Given the description of an element on the screen output the (x, y) to click on. 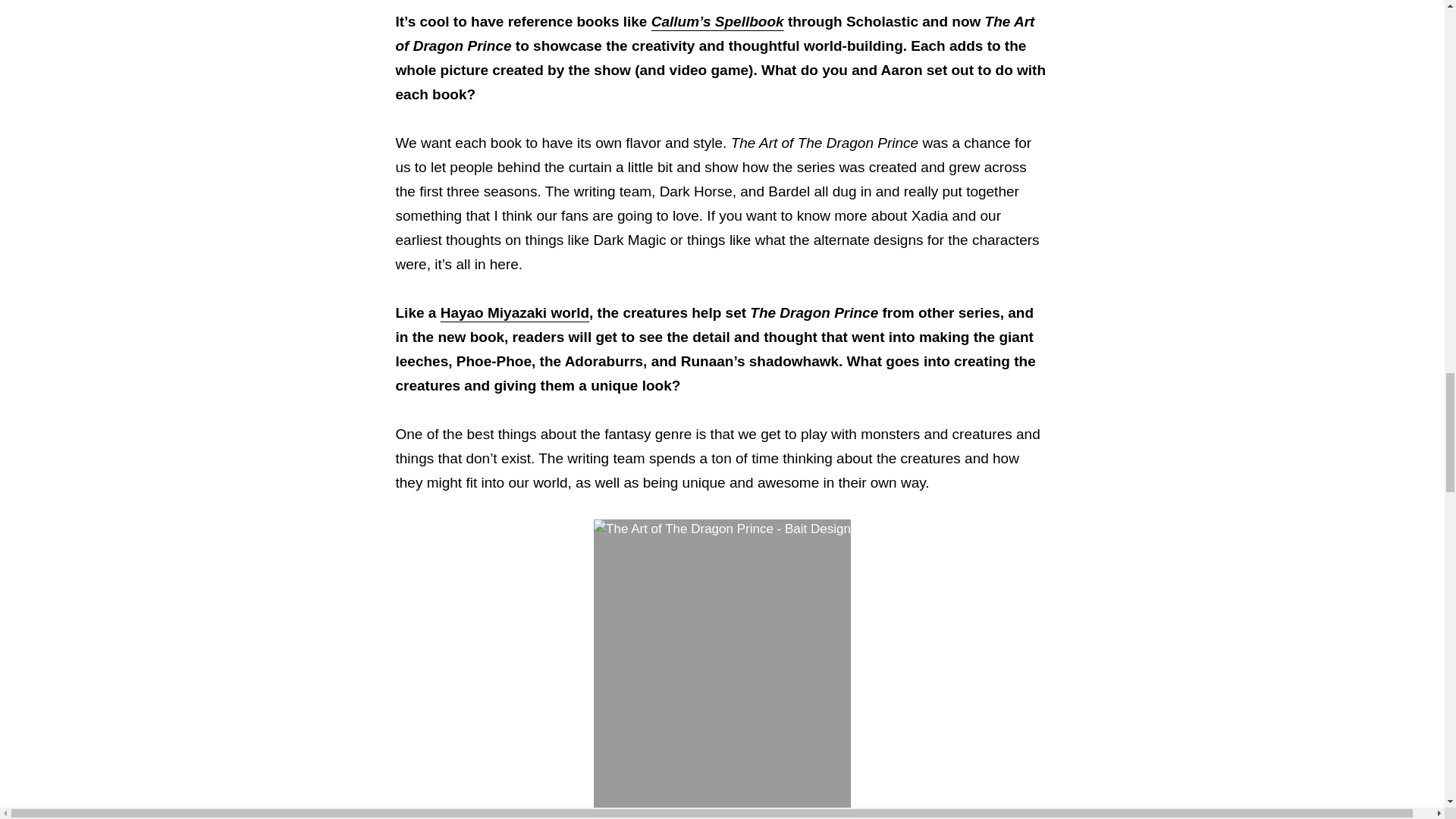
Hayao Miyazaki world (515, 312)
